Given the description of an element on the screen output the (x, y) to click on. 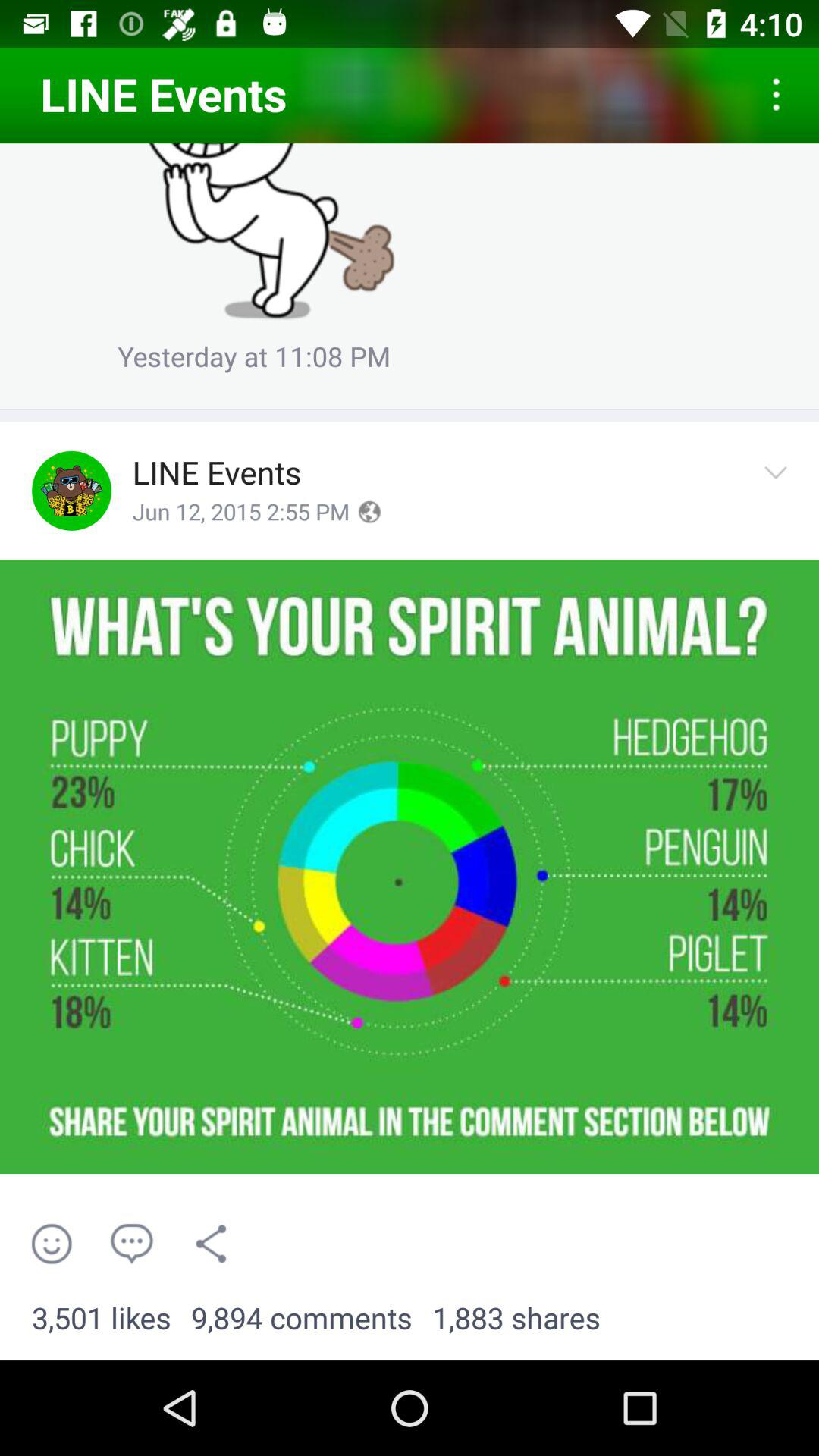
open item next to the jun 12 2015 icon (368, 512)
